Given the description of an element on the screen output the (x, y) to click on. 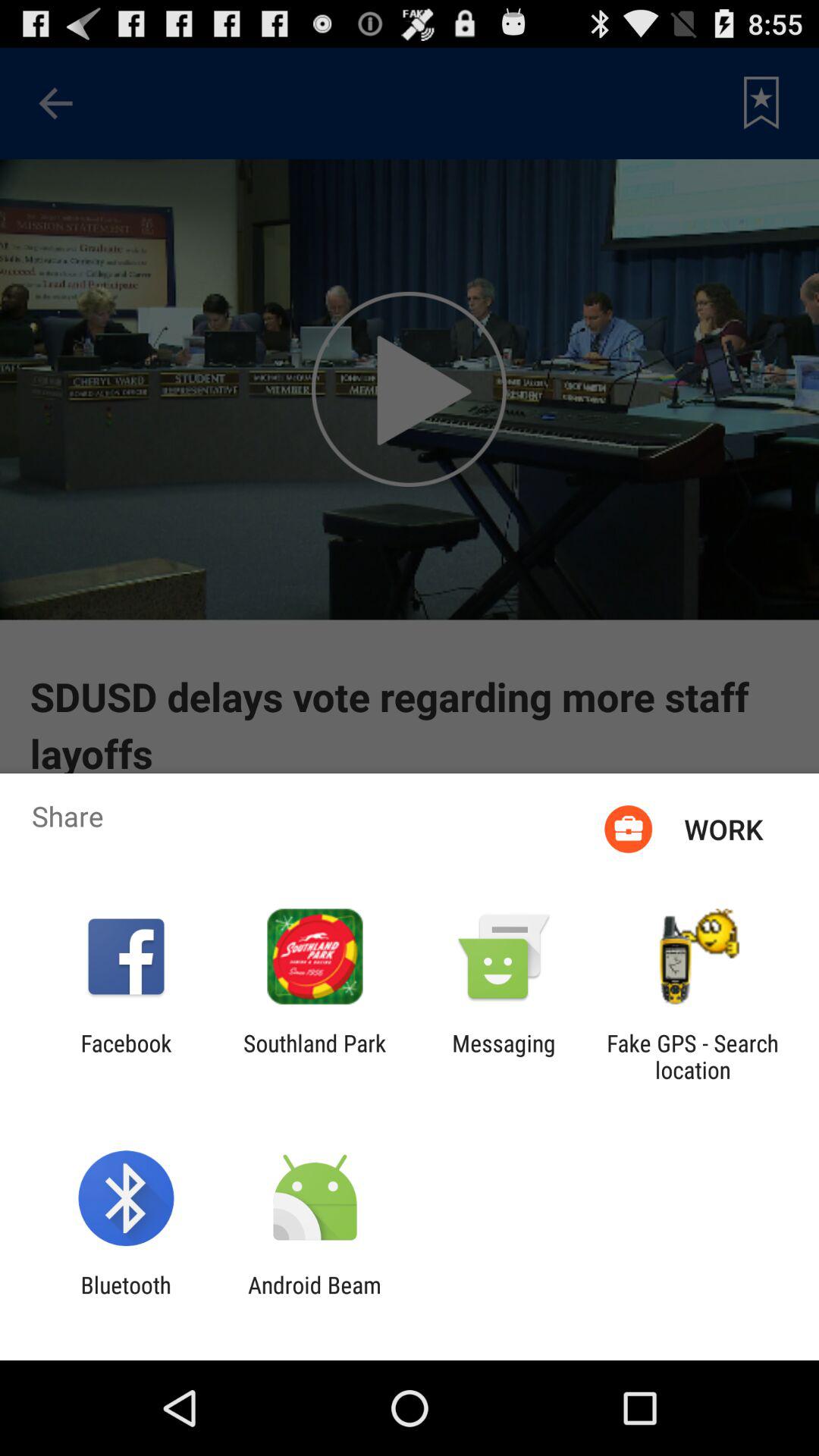
select the icon to the right of the bluetooth icon (314, 1298)
